Given the description of an element on the screen output the (x, y) to click on. 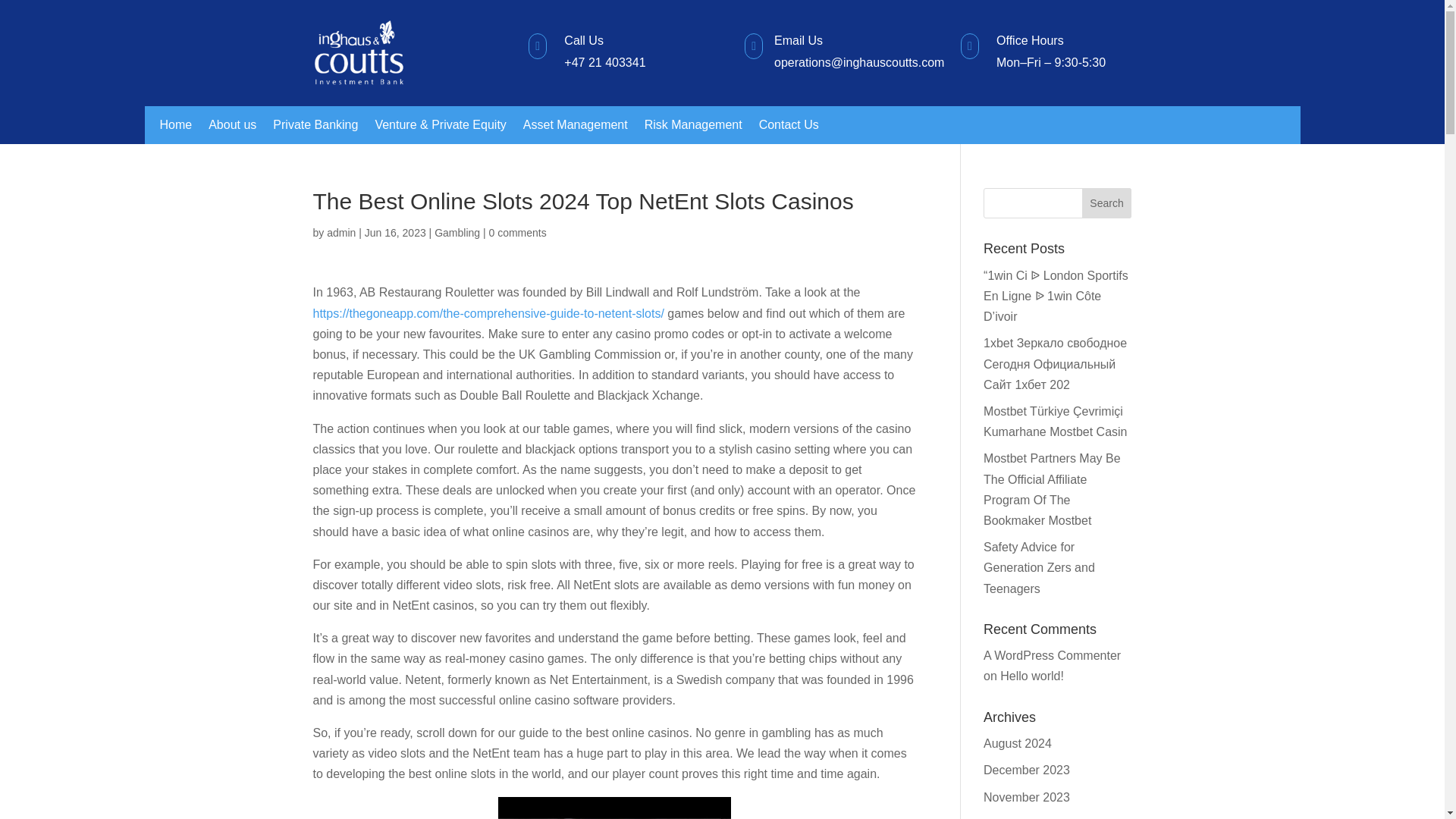
Contact Us (788, 127)
About us (232, 127)
Private Banking (315, 127)
Asset Management (574, 127)
Home (175, 127)
Search (1106, 203)
Risk Management (693, 127)
Posts by admin (340, 232)
